Given the description of an element on the screen output the (x, y) to click on. 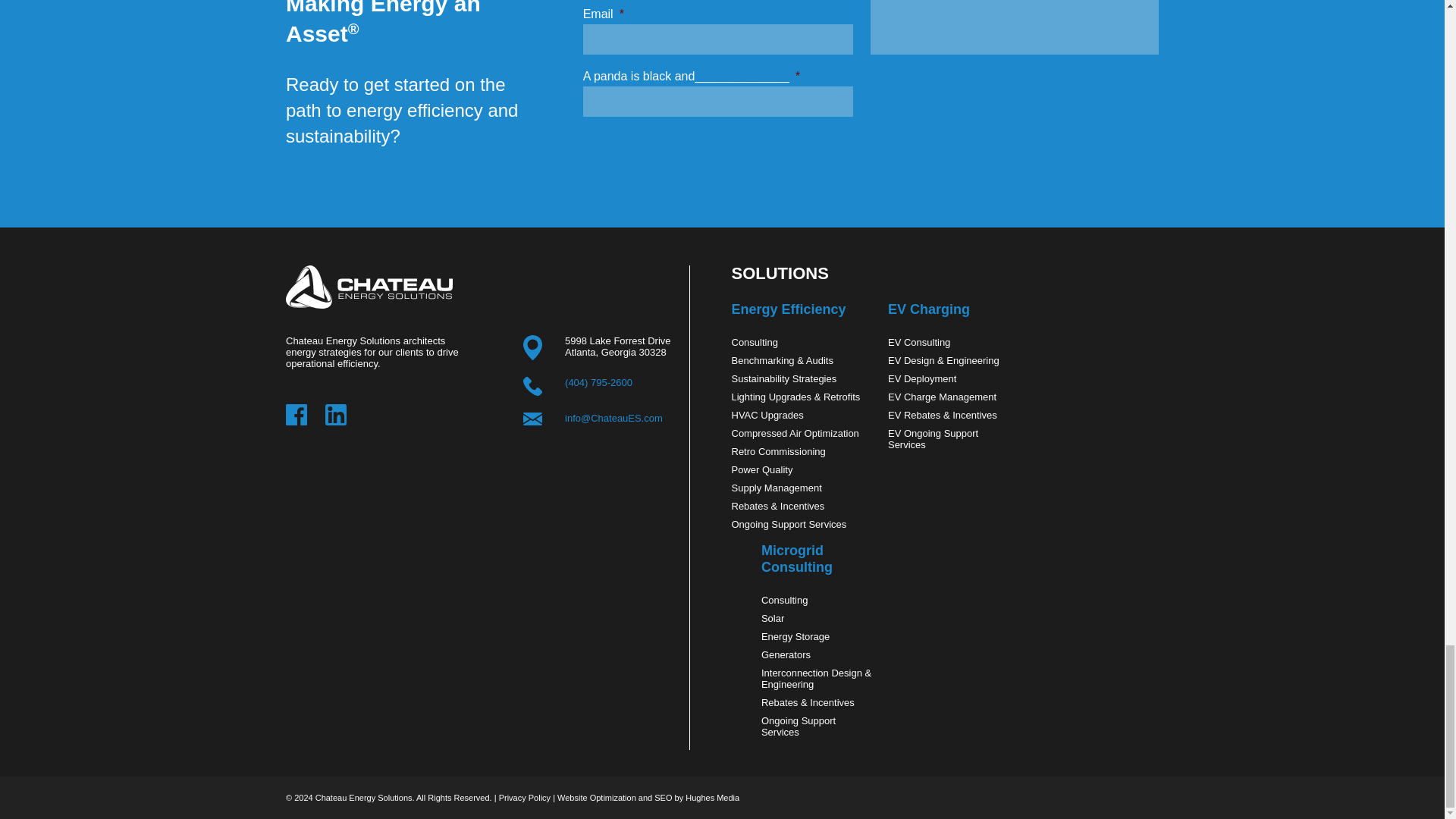
Submit (605, 143)
